Given the description of an element on the screen output the (x, y) to click on. 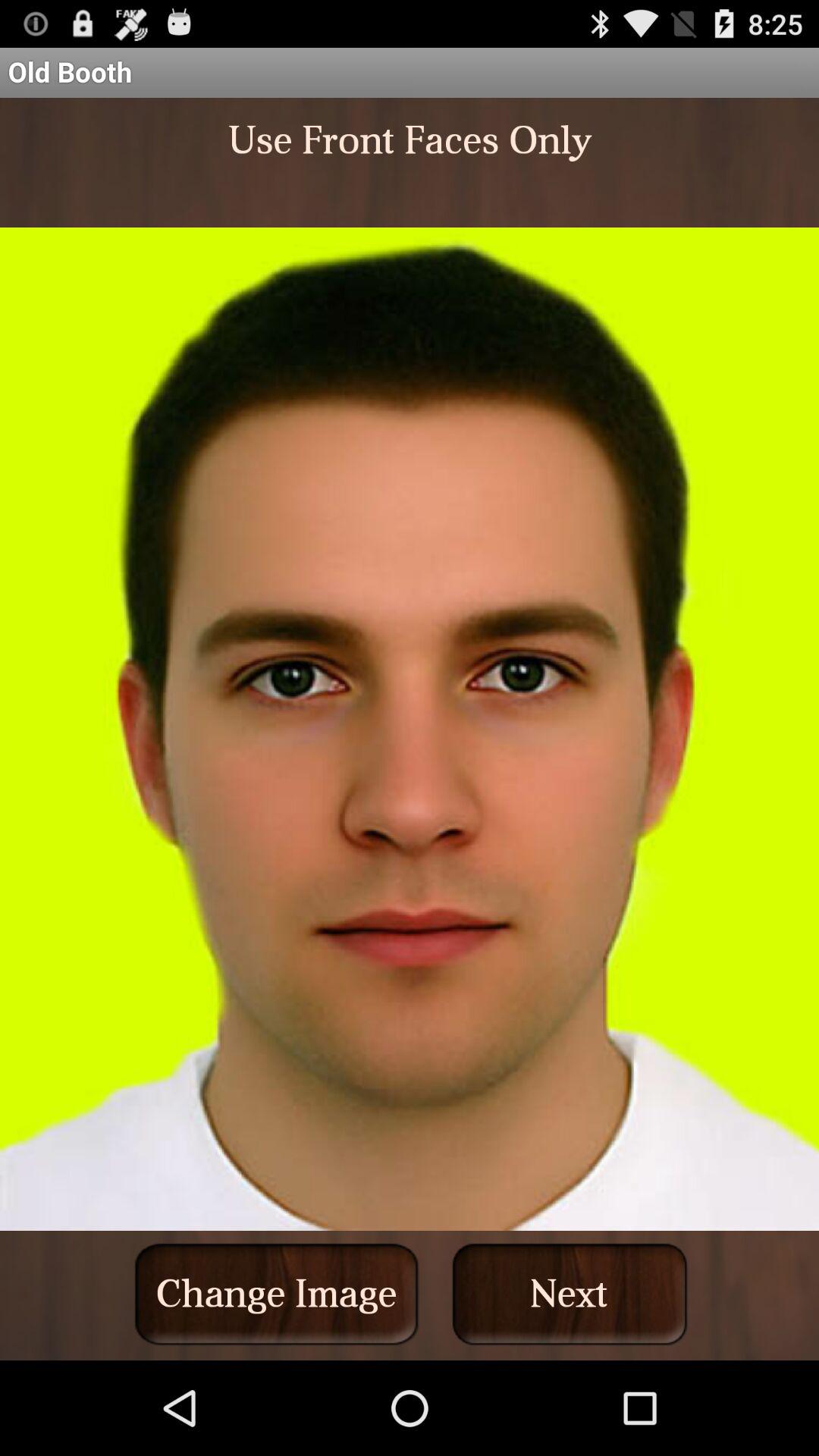
open the button at the bottom right corner (569, 1293)
